Given the description of an element on the screen output the (x, y) to click on. 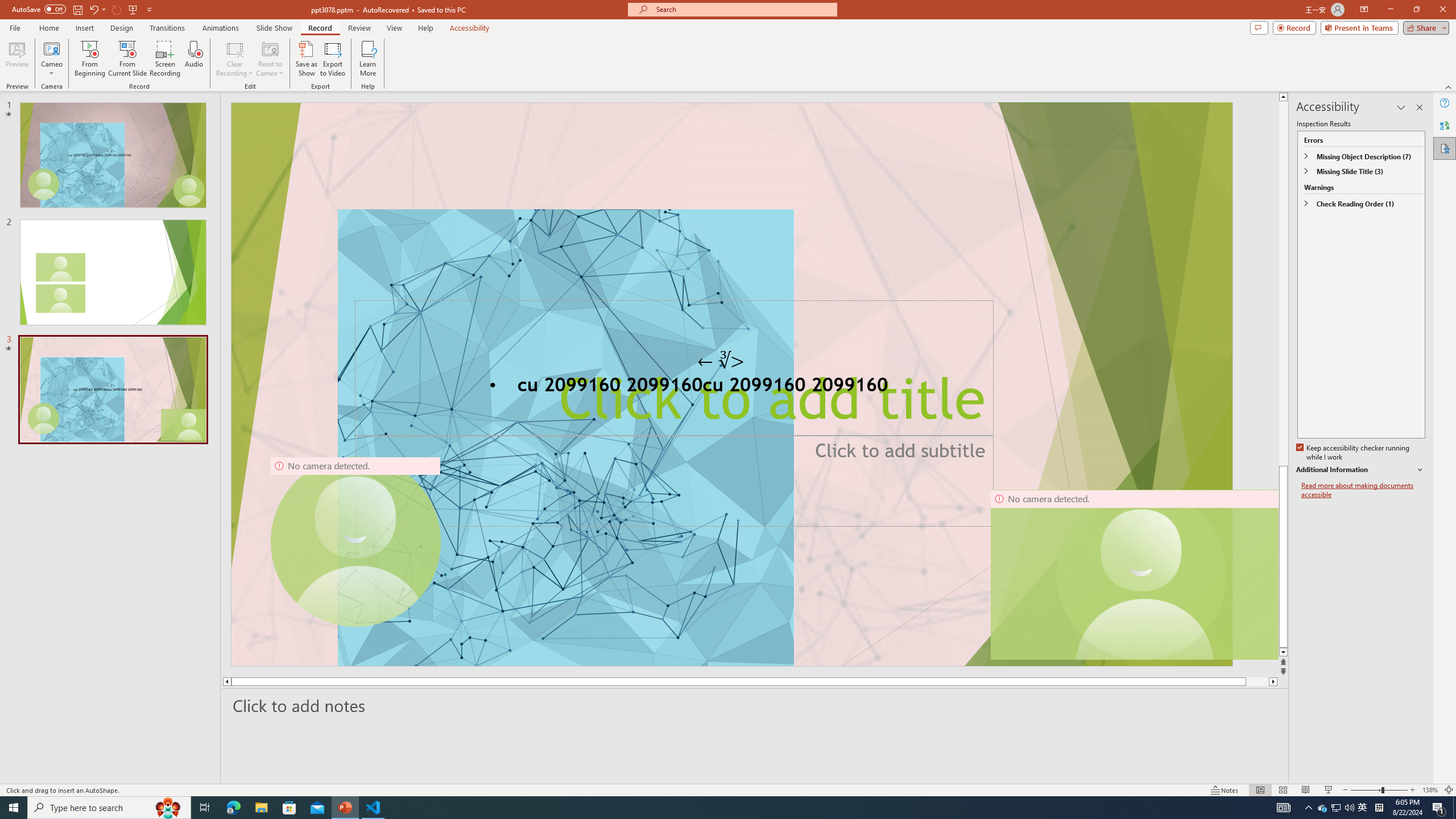
An abstract genetic concept (731, 384)
Camera 11, No camera detected. (1141, 574)
Subtitle TextBox (673, 480)
Read more about making documents accessible (1363, 489)
Reset to Cameo (269, 58)
Camera 9, No camera detected. (355, 542)
